Given the description of an element on the screen output the (x, y) to click on. 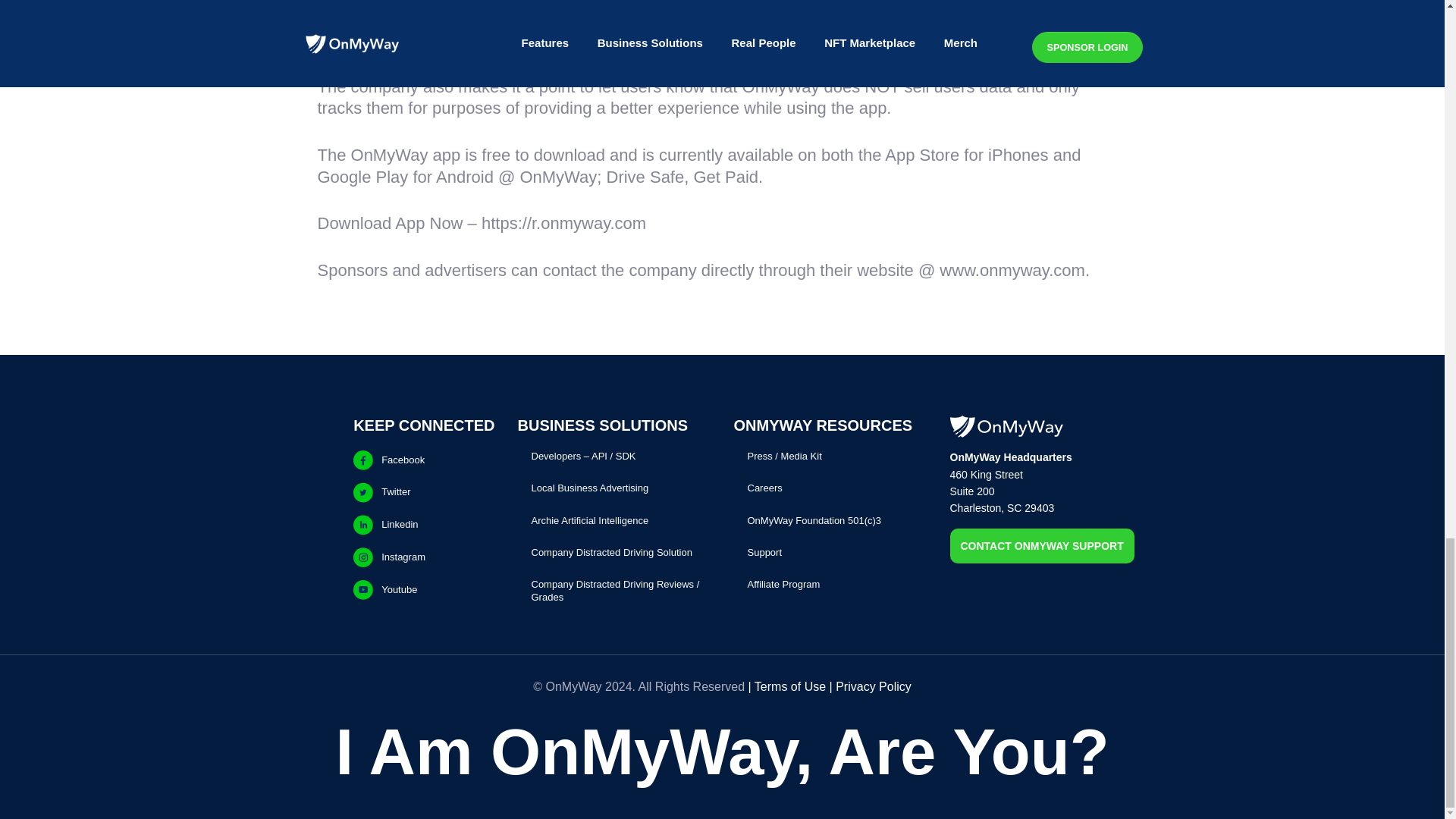
Privacy Policy (873, 686)
Linkedin (424, 506)
Terms of Use (789, 686)
Company Distracted Driving Solution (611, 547)
Youtube (424, 577)
Instagram (424, 541)
Affiliate Program (784, 583)
Careers (765, 487)
Archie Artificial Intelligence (589, 513)
Facebook (424, 433)
